Given the description of an element on the screen output the (x, y) to click on. 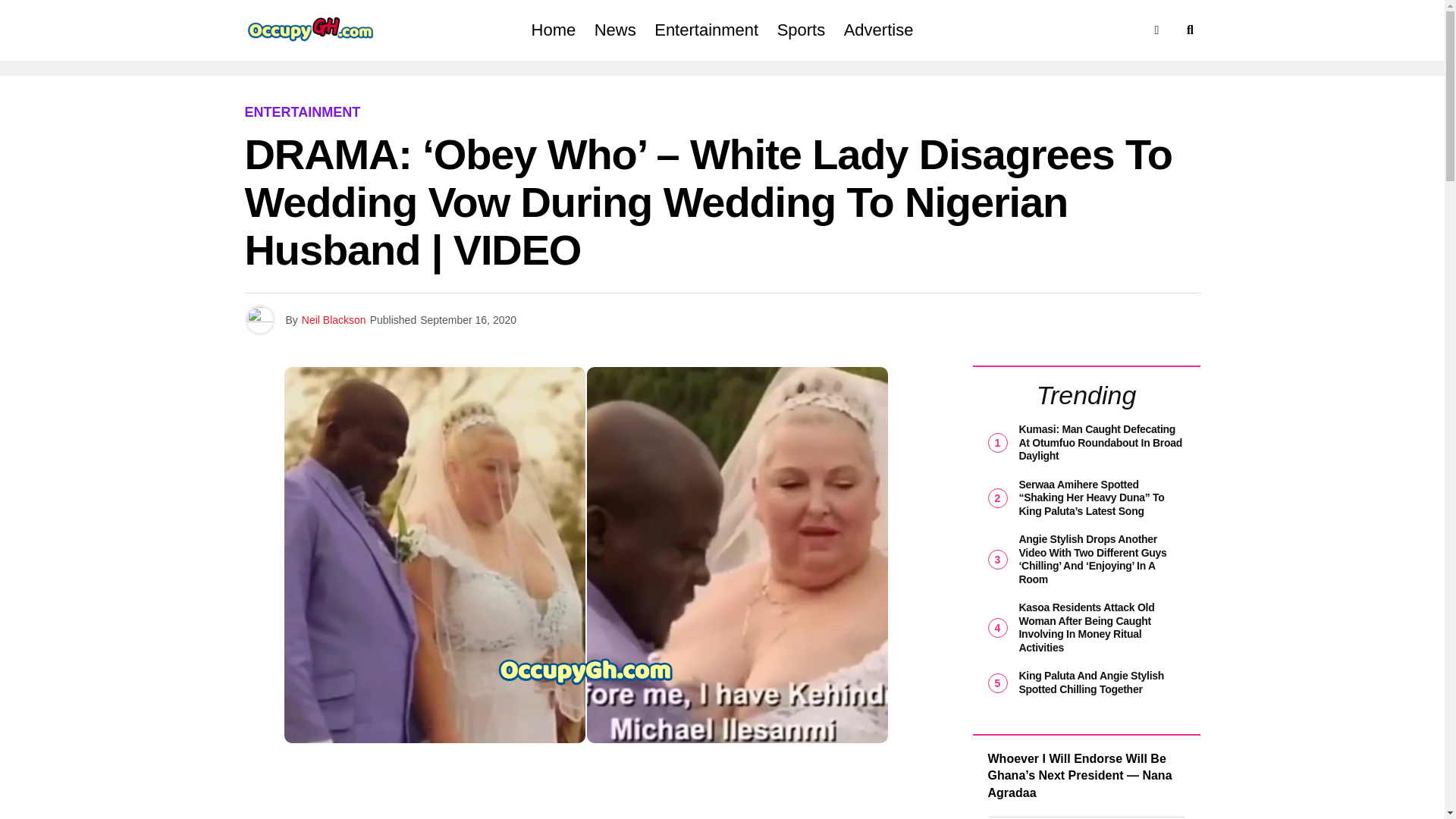
Sports (801, 30)
ENTERTAINMENT (301, 112)
Advertise (878, 30)
Entertainment (705, 30)
Posts by Neil Blackson (333, 319)
Neil Blackson (333, 319)
Home (553, 30)
News (614, 30)
